Given the description of an element on the screen output the (x, y) to click on. 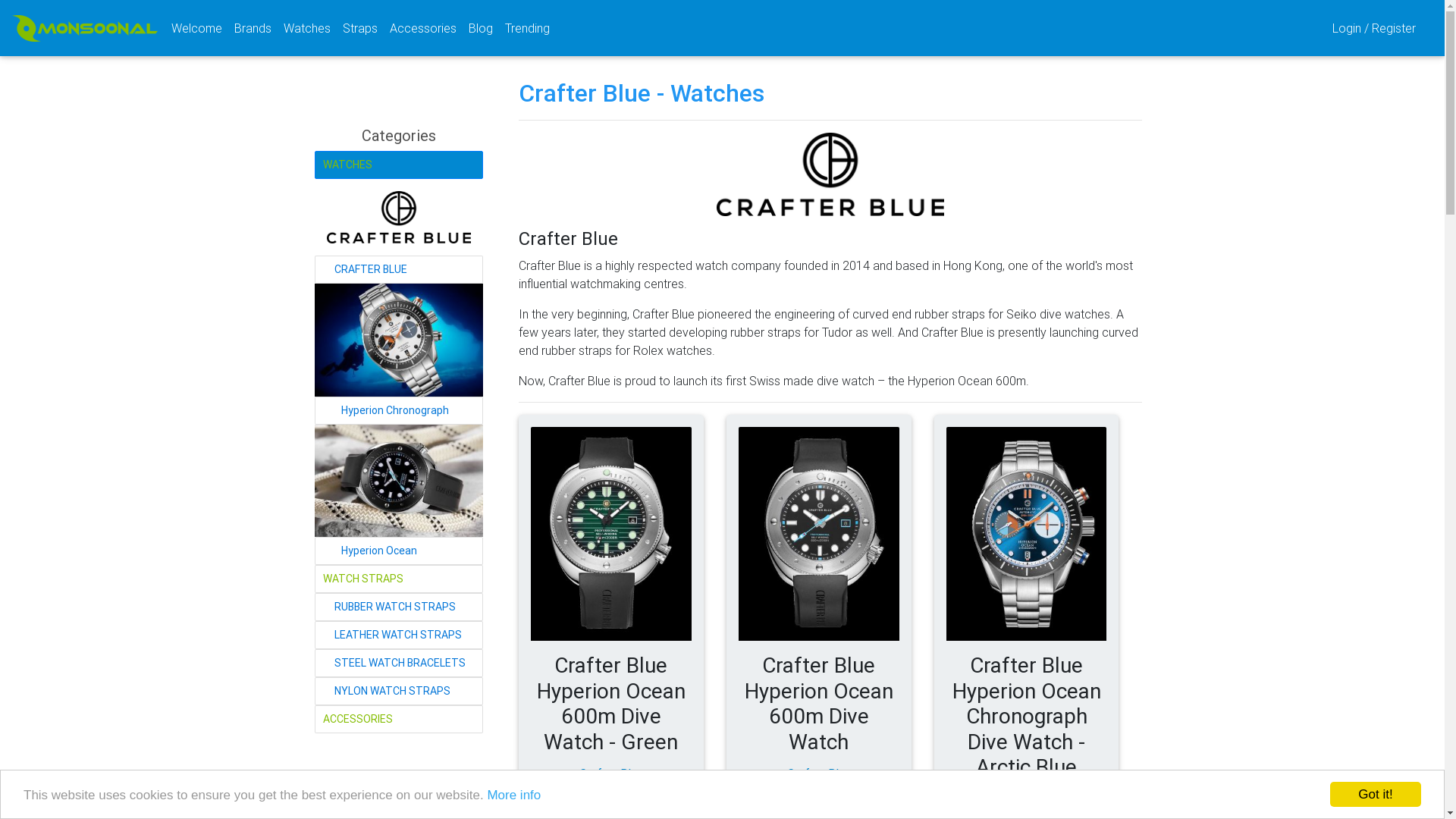
Brands
(current) Element type: text (252, 27)
Watches
(current) Element type: text (306, 27)
  Element type: text (1304, 27)
WATCHES Element type: text (398, 164)
Crafter Blue Element type: text (610, 773)
Crafter Blue Element type: text (1026, 799)
Crafter Blue Hyperion Ocean 600m Dive Watch Element type: hover (818, 533)
Got it! Element type: text (1375, 793)
Crafter Blue Element type: hover (398, 217)
Crafter Blue Element type: hover (830, 173)
Login / Register Element type: text (1376, 27)
WATCH STRAPS Element type: text (398, 578)
Hyperion Chronograph Element type: hover (398, 339)
Trending Element type: text (526, 27)
Crafter Blue Hyperion Ocean 600m Dive Watch - Green Element type: text (610, 703)
Welcome Element type: text (196, 27)
Crafter Blue Element type: text (818, 773)
Straps
(current) Element type: text (359, 27)
Crafter Blue Hyperion Ocean 600m Dive Watch - Green Element type: hover (610, 533)
Hyperion Ocean Element type: hover (398, 480)
Crafter Blue Hyperion Ocean 600m Dive Watch Element type: text (818, 703)
Blog Element type: text (480, 27)
More info Element type: text (513, 794)
ACCESSORIES Element type: text (398, 719)
Accessories
(current) Element type: text (422, 27)
